Given the description of an element on the screen output the (x, y) to click on. 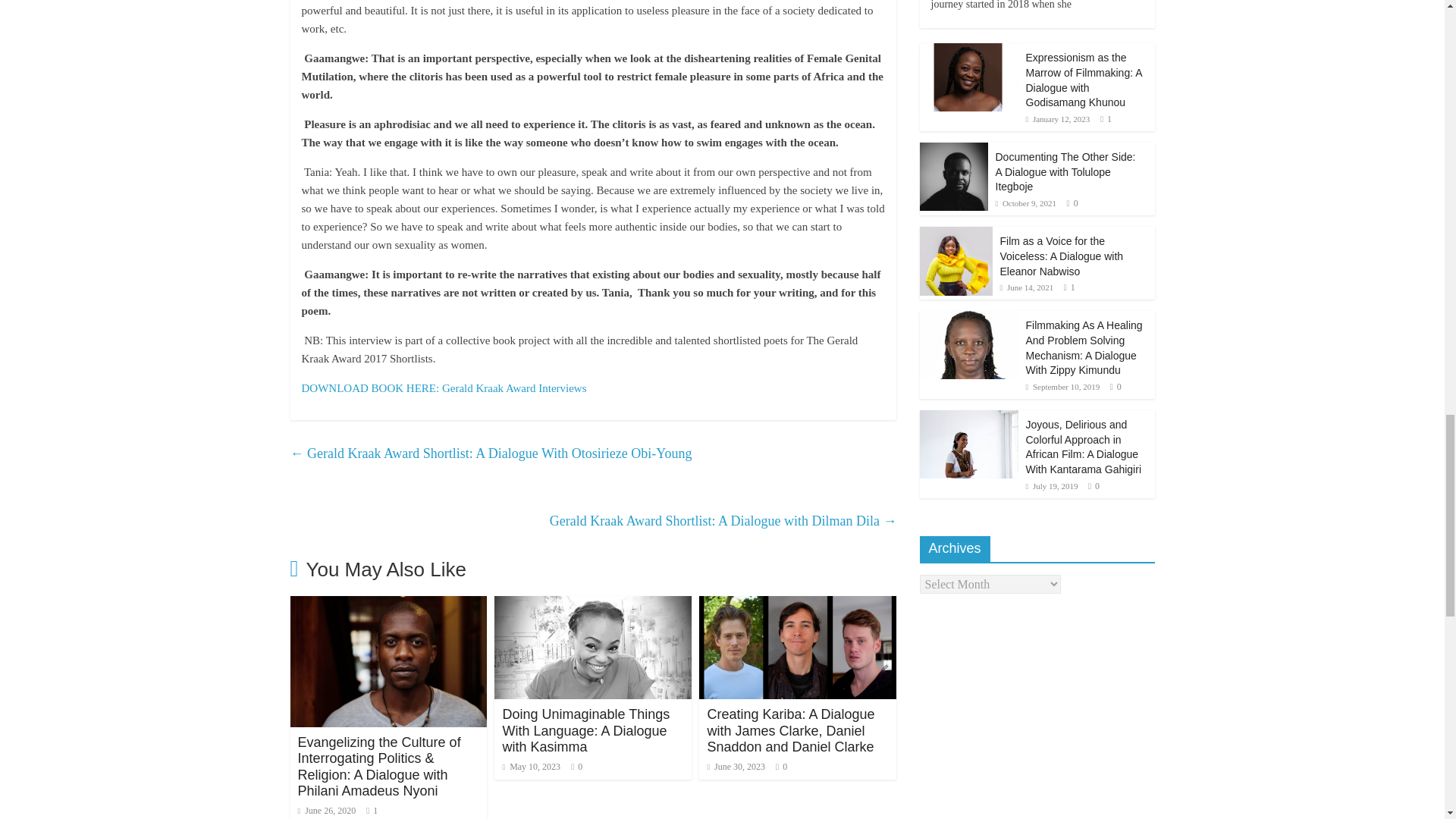
8:00 am (326, 810)
Gerald Kraak Award Interviews (443, 387)
